Given the description of an element on the screen output the (x, y) to click on. 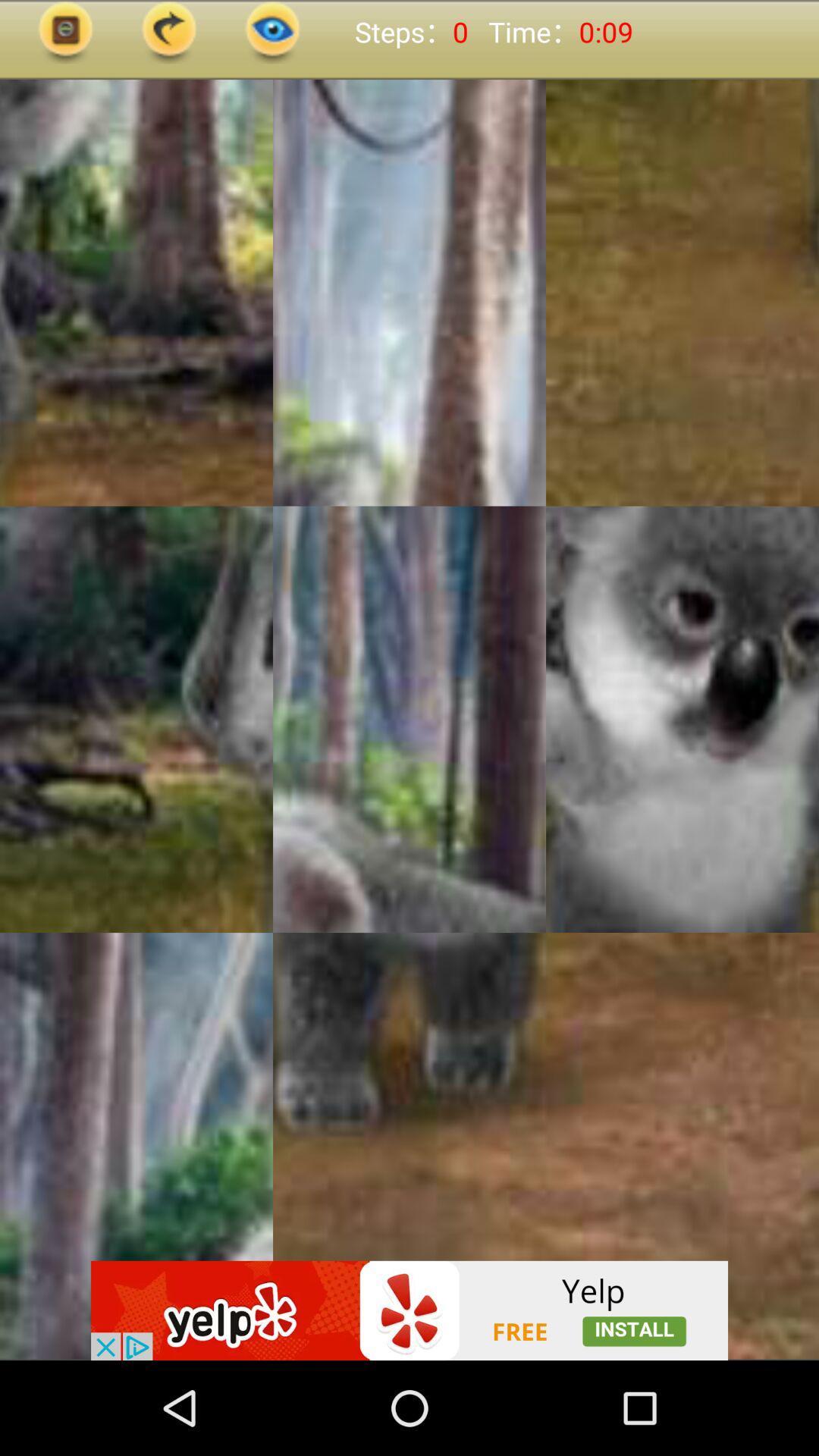
go to next (169, 31)
